Given the description of an element on the screen output the (x, y) to click on. 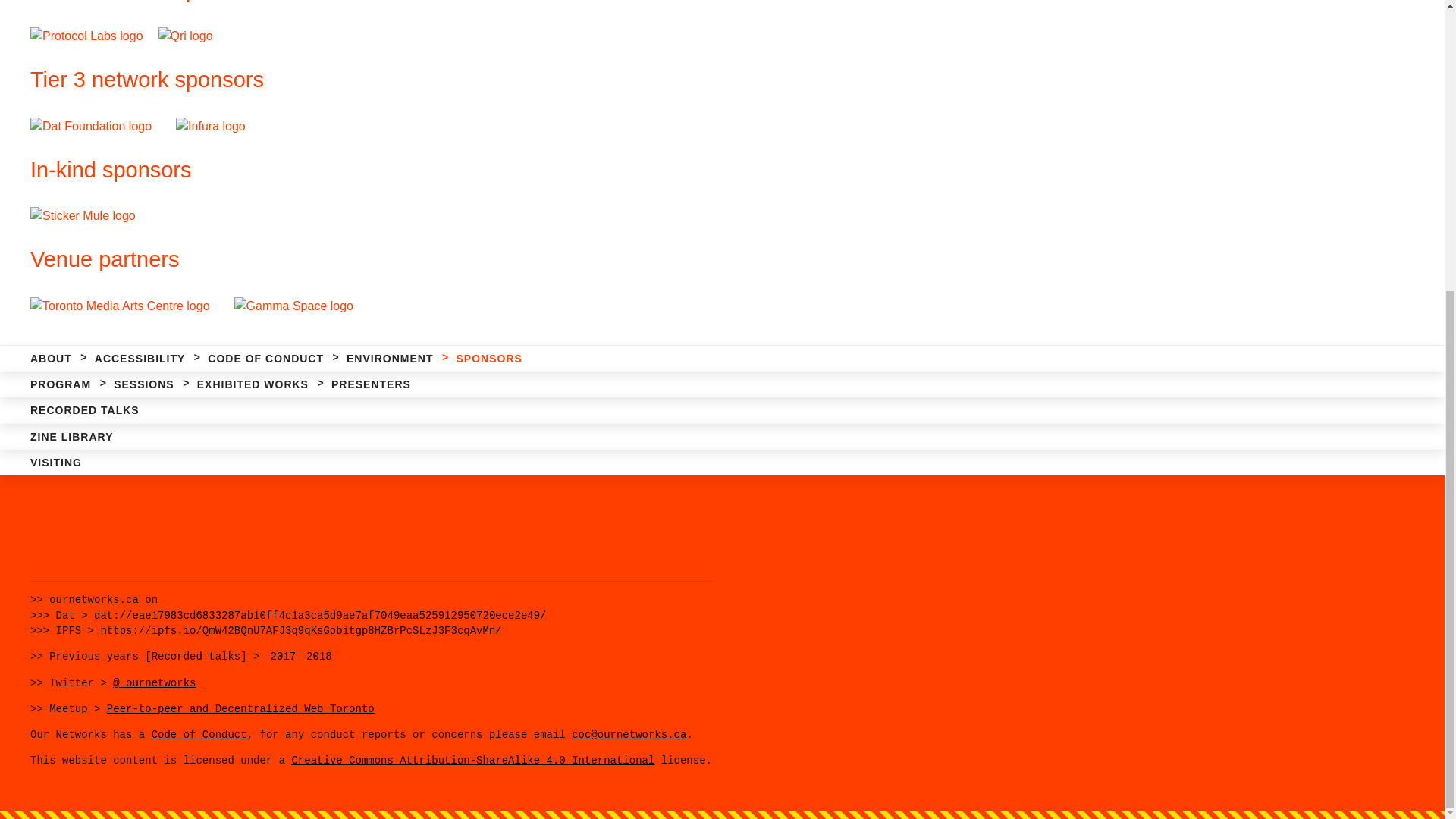
EXHIBITED WORKS (253, 284)
PRESENTERS (371, 284)
PROGRAM (50, 284)
ABOUT (41, 258)
SESSIONS (143, 284)
VISITING (46, 362)
ENVIRONMENT (389, 258)
CODE OF CONDUCT (265, 258)
ZINE LIBRARY (61, 335)
SPONSORS (488, 258)
ACCESSIBILITY (139, 258)
Recorded talks (196, 656)
RECORDED TALKS (75, 309)
